Given the description of an element on the screen output the (x, y) to click on. 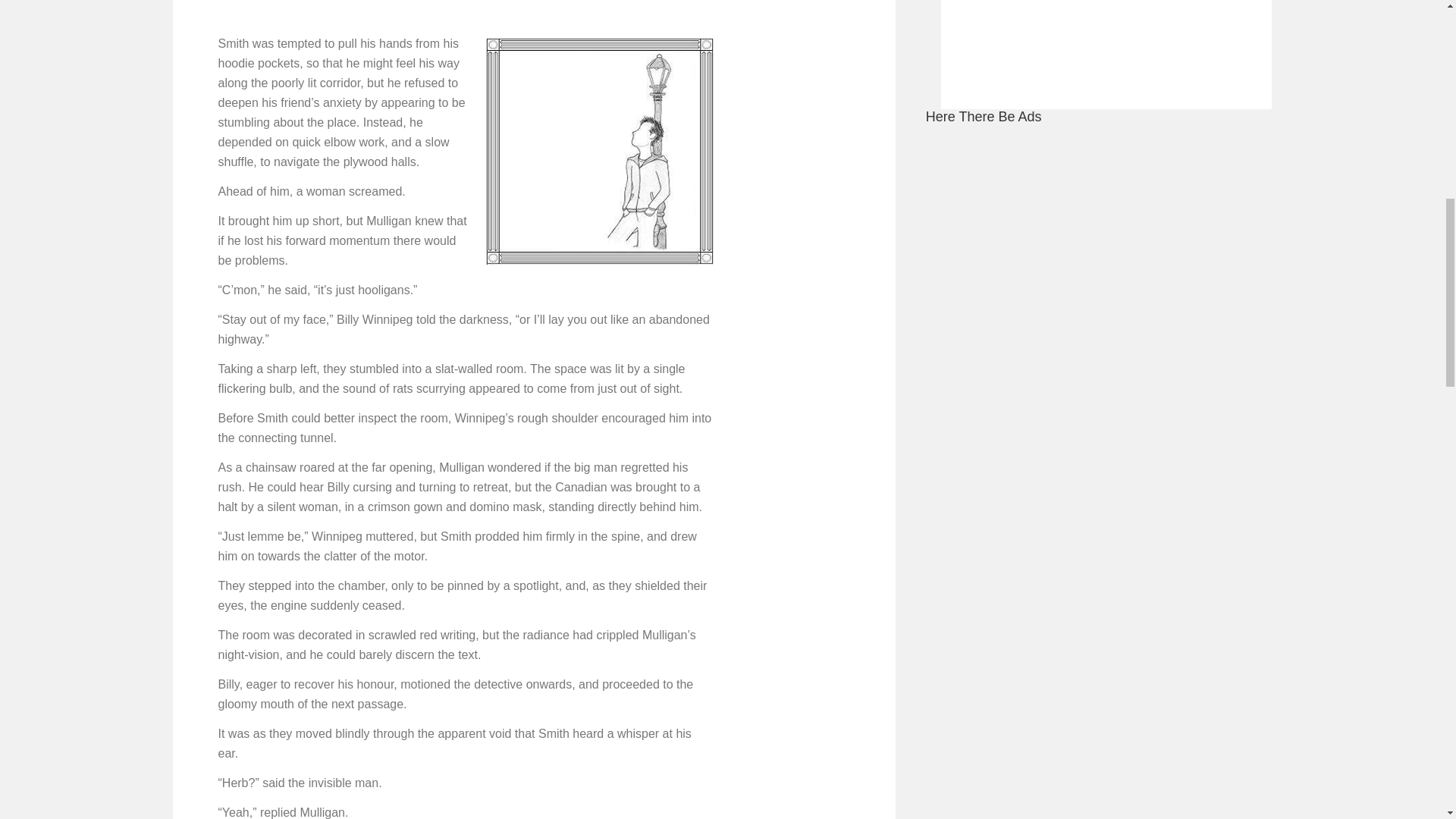
Mulligan (599, 151)
